Given the description of an element on the screen output the (x, y) to click on. 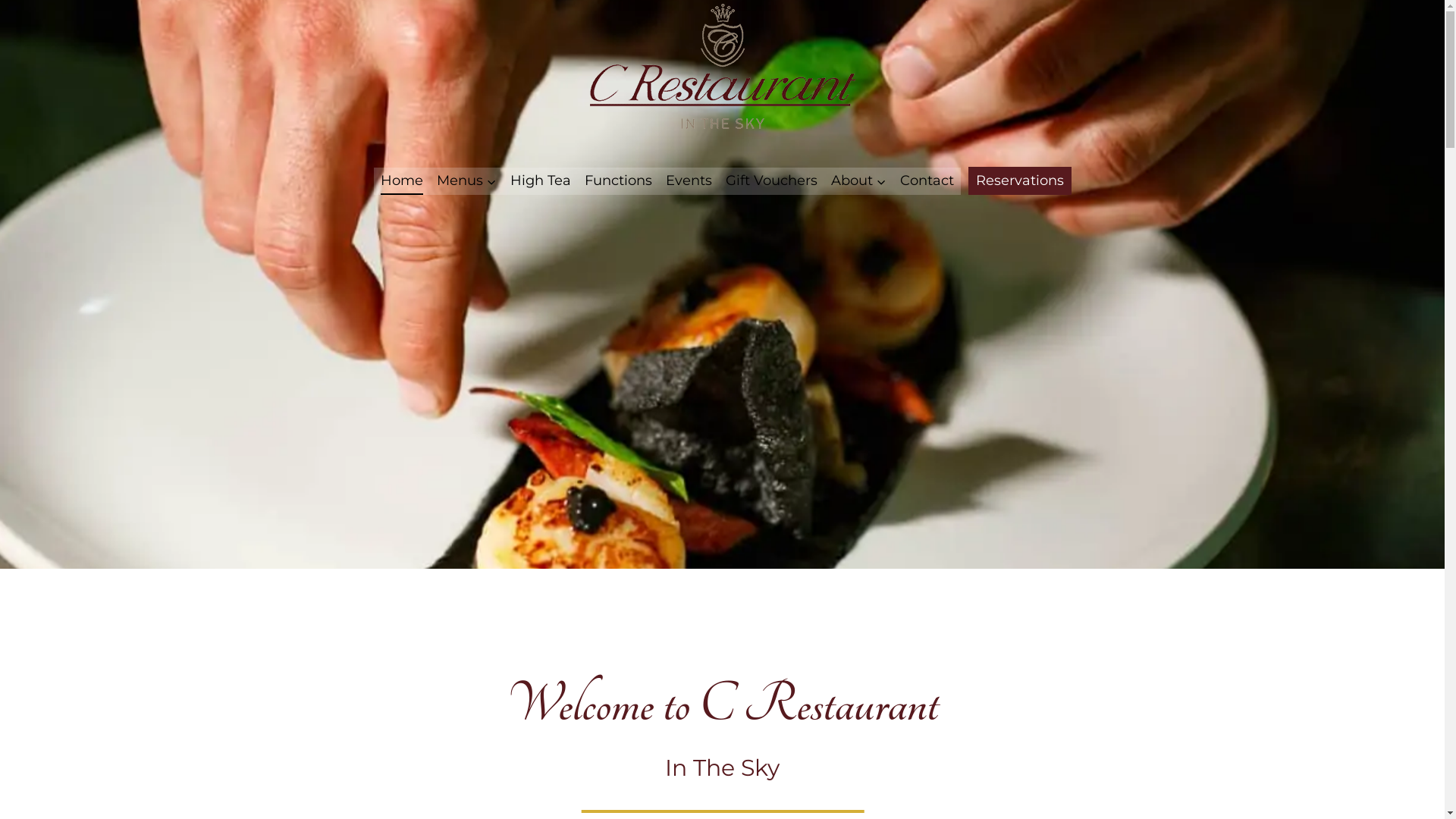
High Tea Element type: text (540, 180)
Events Element type: text (688, 180)
Home Element type: text (401, 180)
Reservations Element type: text (1018, 180)
About Element type: text (857, 180)
Gift Vouchers Element type: text (771, 180)
Menus Element type: text (465, 180)
Contact Element type: text (926, 180)
Functions Element type: text (617, 180)
